Given the description of an element on the screen output the (x, y) to click on. 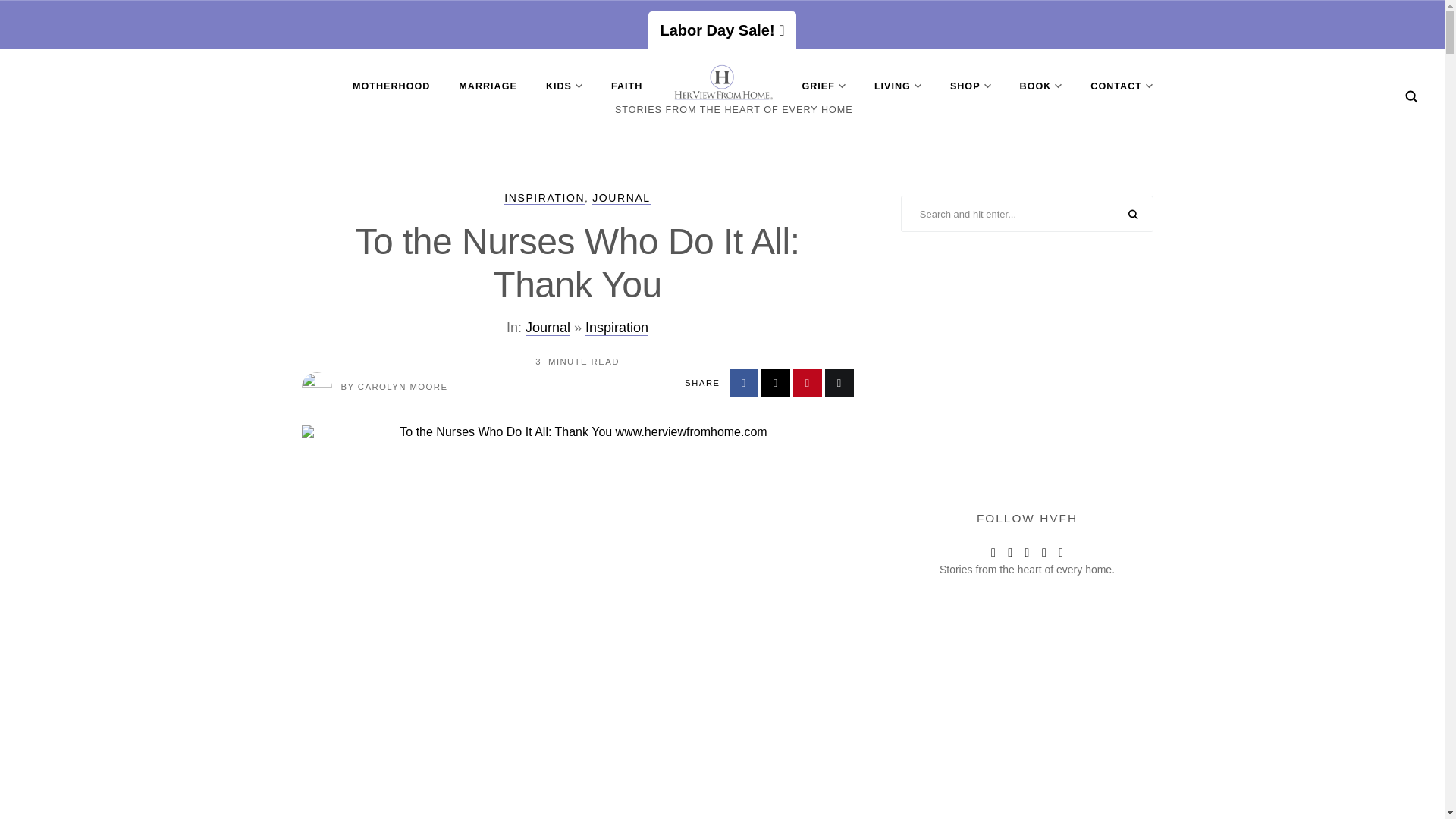
Share on X (775, 382)
Share on Facebook (743, 382)
Search (1411, 96)
Share on Pinterest (807, 382)
Share by Email (839, 382)
SEARCH (1133, 214)
